Given the description of an element on the screen output the (x, y) to click on. 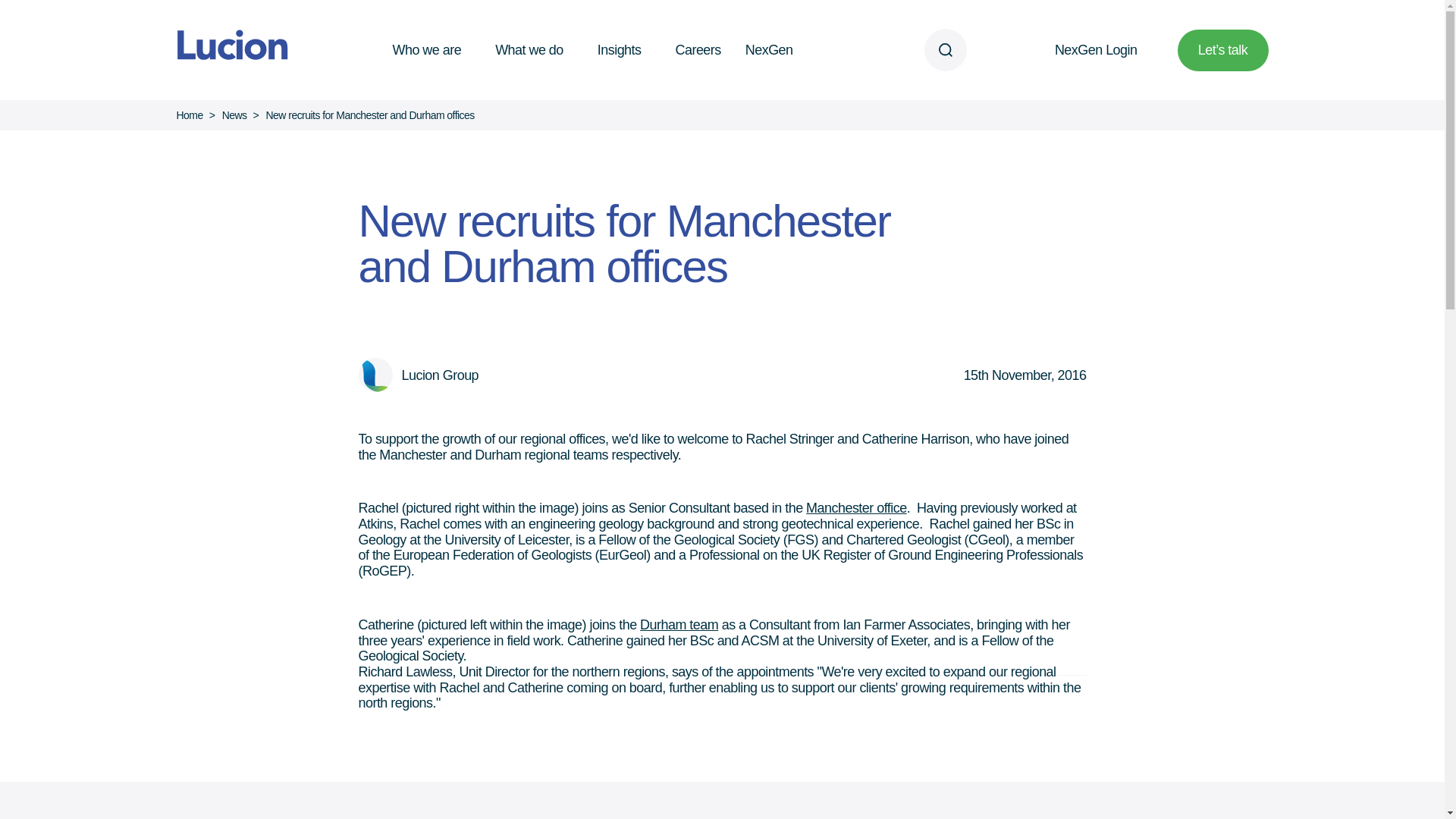
Return to the Lucion Group homepage (226, 49)
What we do (534, 49)
Search this website (945, 49)
Who we are (432, 49)
